Given the description of an element on the screen output the (x, y) to click on. 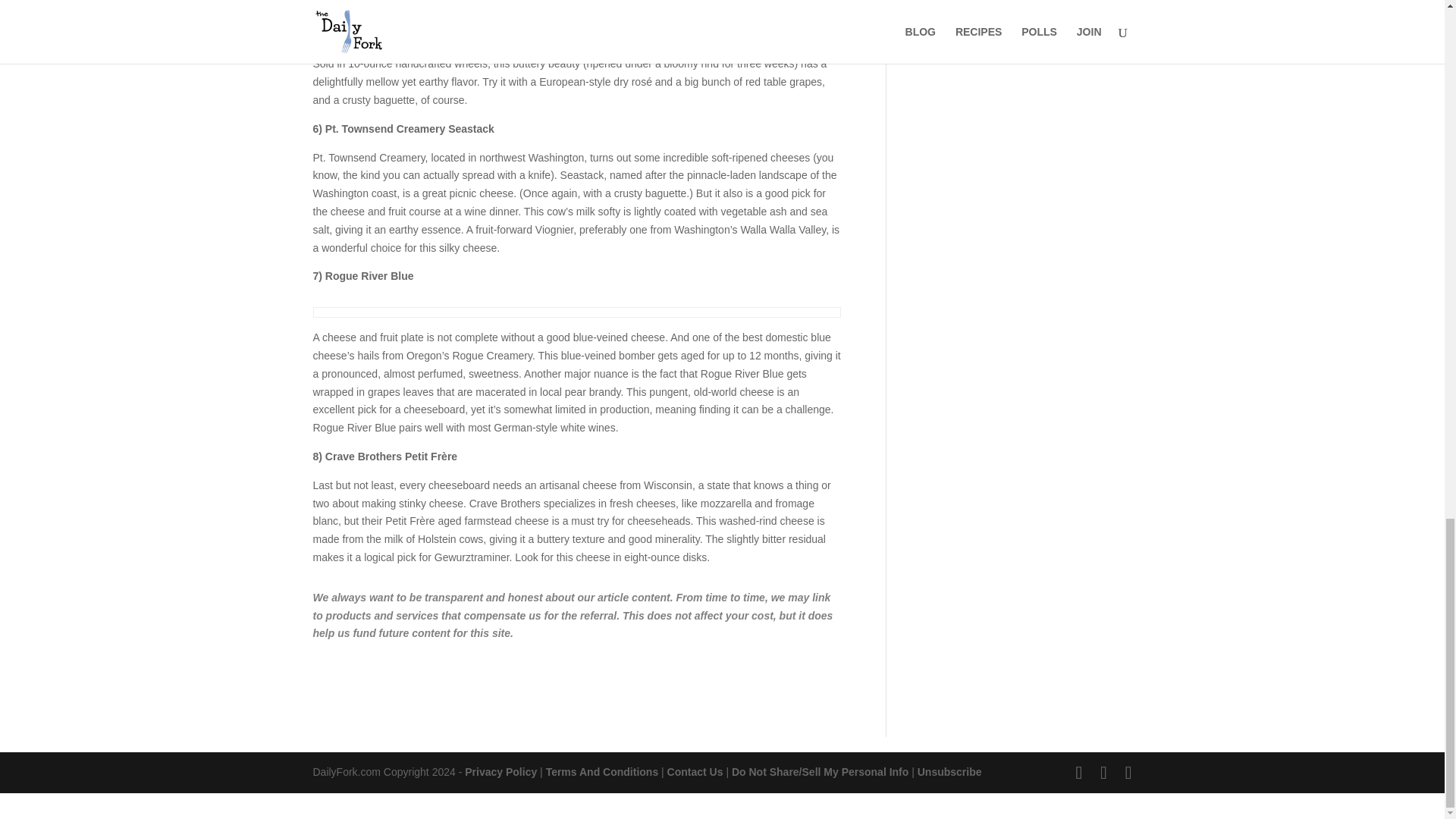
Contact Us (694, 771)
Privacy Policy (500, 771)
Unsubscribe (949, 771)
Terms And Conditions (602, 771)
